Given the description of an element on the screen output the (x, y) to click on. 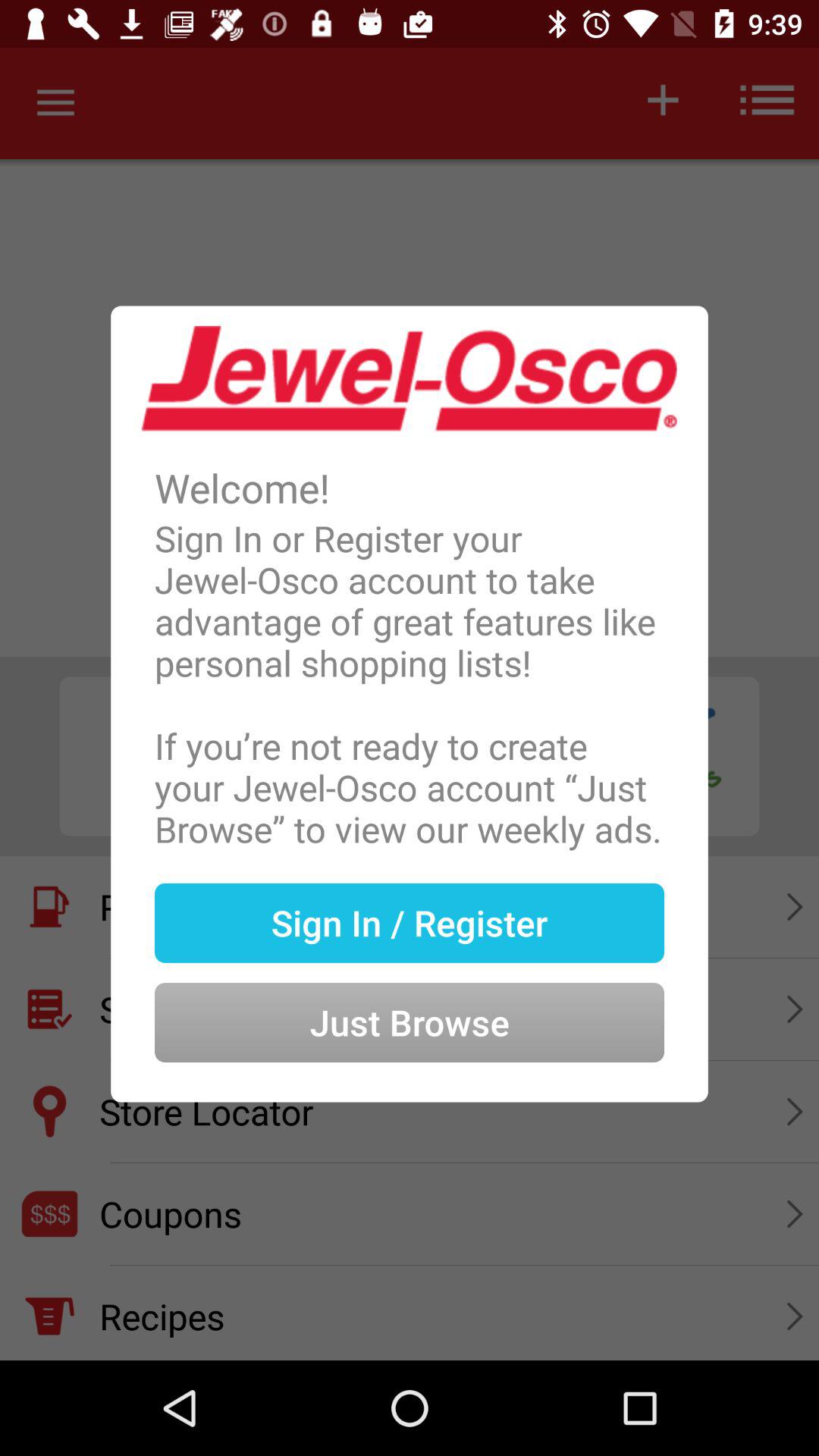
swipe to just browse icon (409, 998)
